Given the description of an element on the screen output the (x, y) to click on. 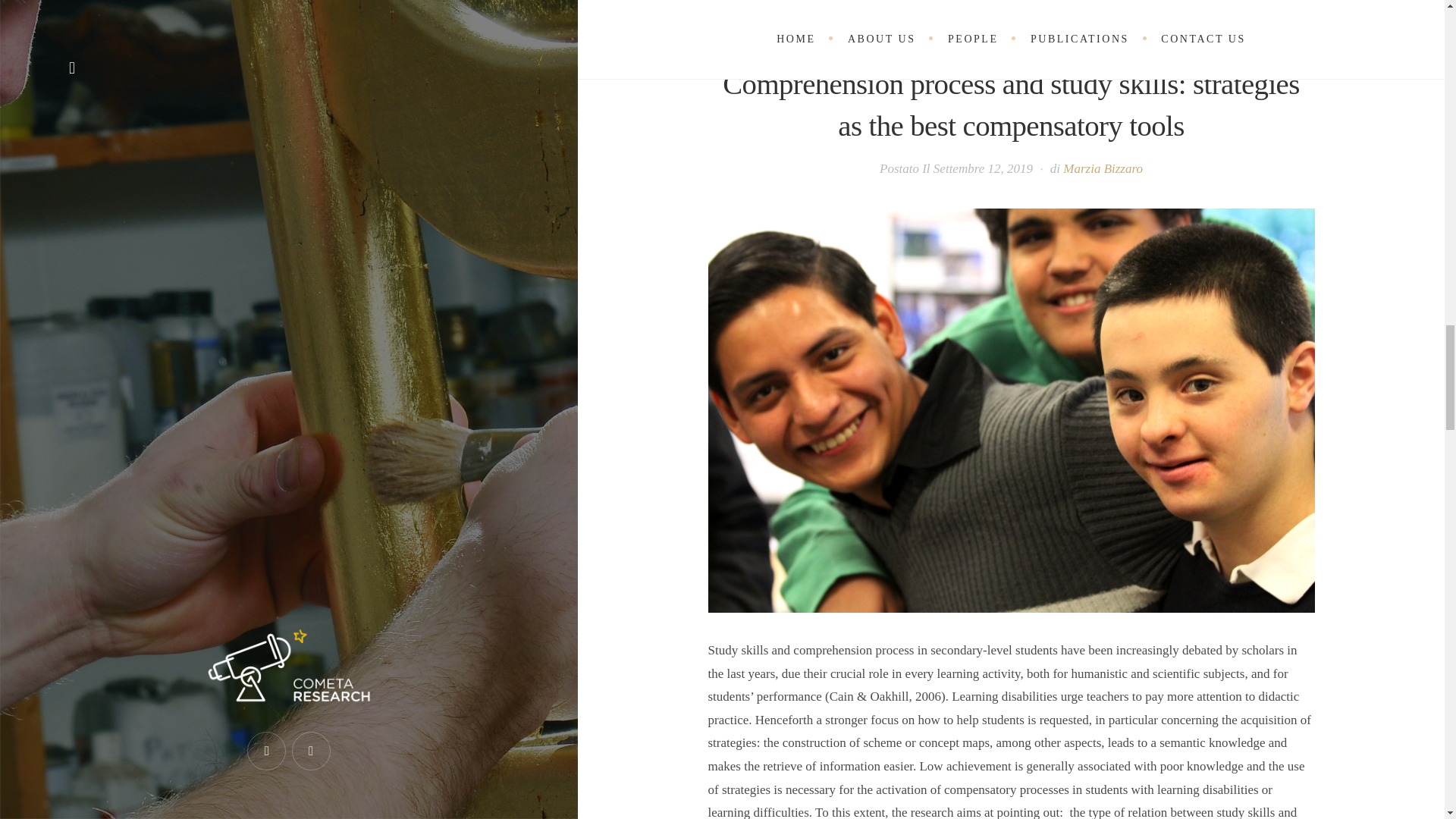
Marzia Bizzaro (1102, 168)
